Given the description of an element on the screen output the (x, y) to click on. 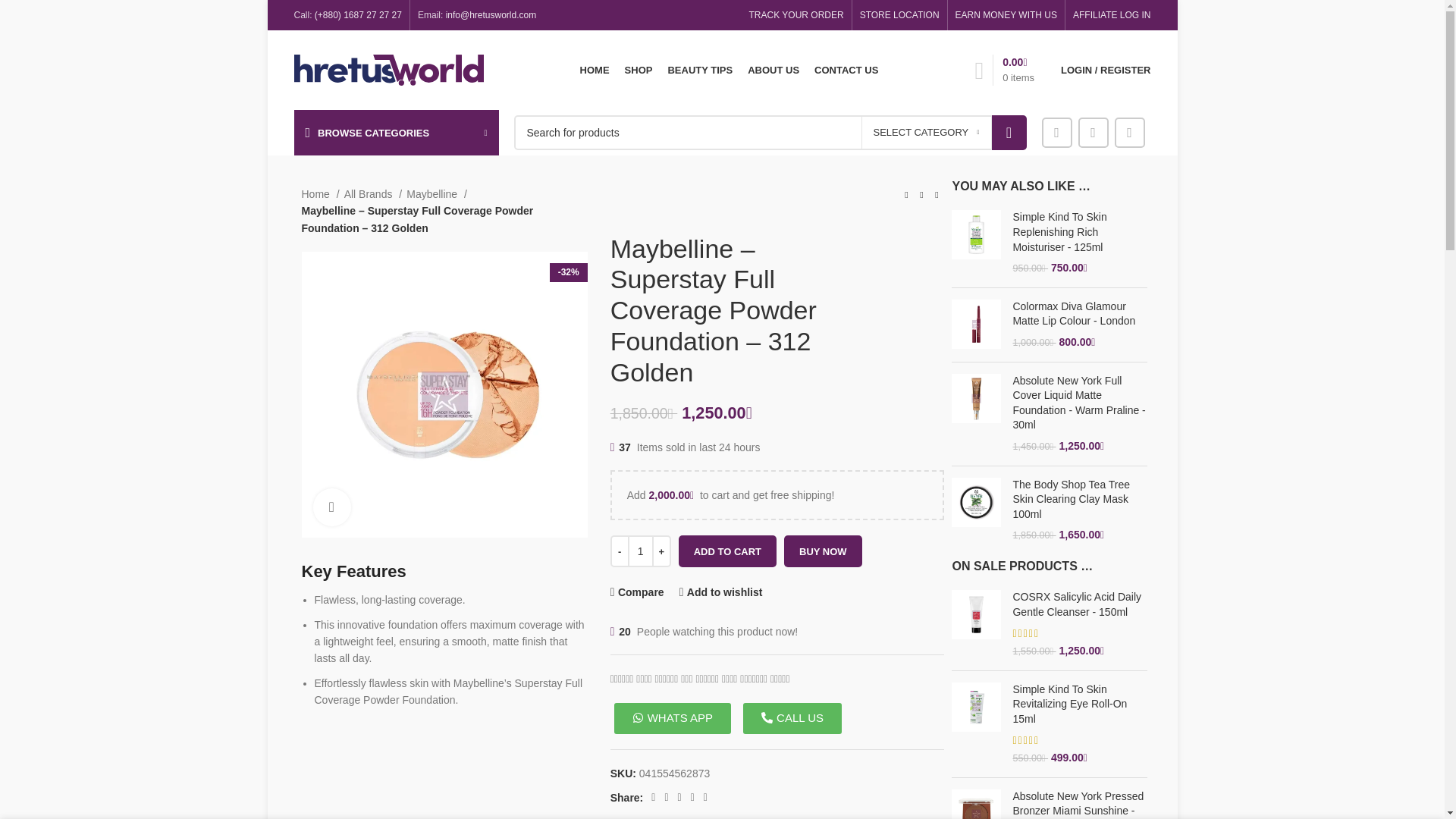
SELECT CATEGORY (926, 132)
My account (1104, 69)
STORE LOCATION (899, 14)
TRACK YOUR ORDER (796, 14)
EARN MONEY WITH US (1006, 14)
SHOP (638, 69)
HOME (594, 69)
ABOUT US (773, 69)
AFFILIATE LOG IN (1111, 14)
CONTACT US (845, 69)
Shopping cart (1004, 69)
BEAUTY TIPS (699, 69)
